Given the description of an element on the screen output the (x, y) to click on. 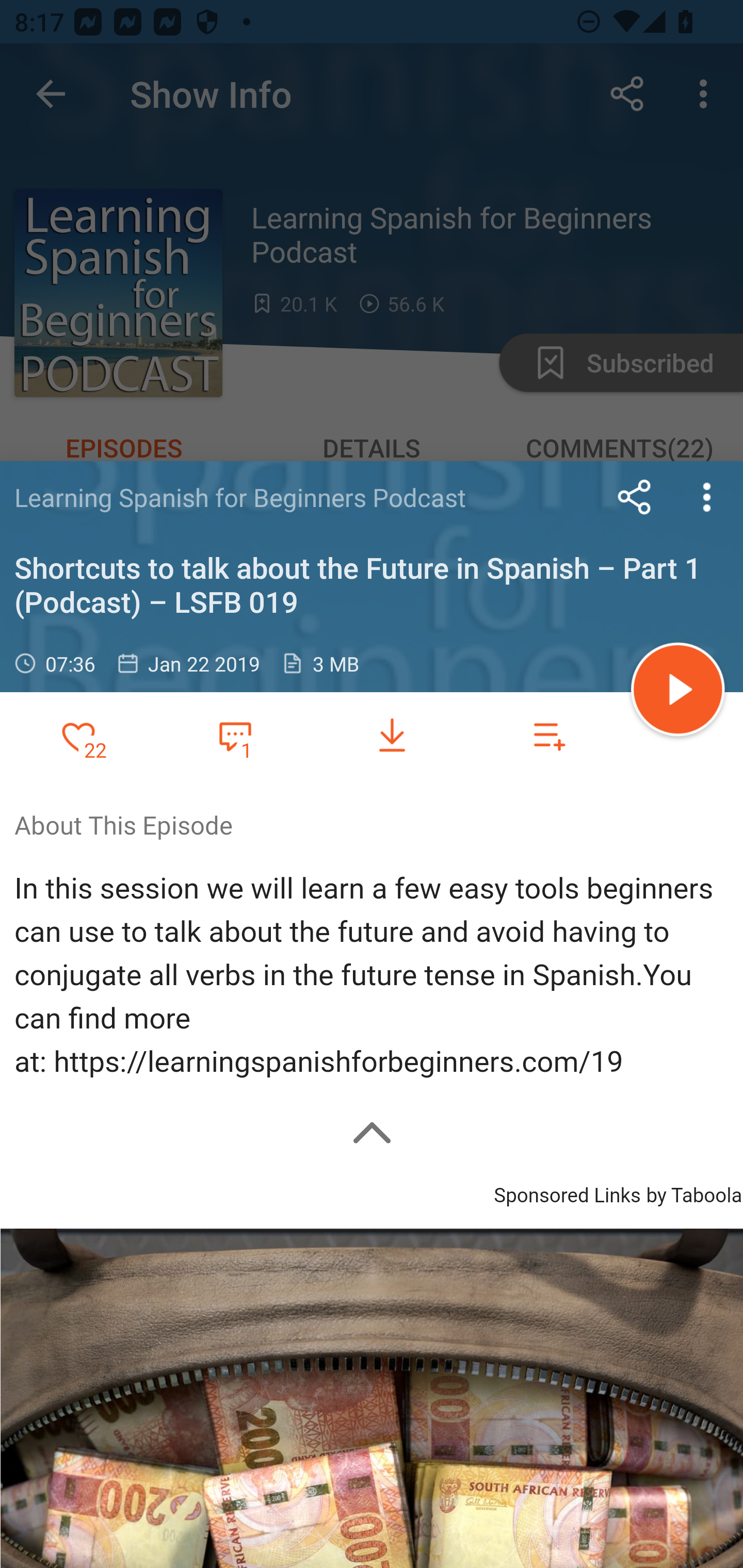
Share (634, 496)
more options (706, 496)
Play (677, 692)
1 Favorite (234, 735)
Add to Favorites (78, 735)
Download (391, 735)
Add to playlist (548, 735)
Sponsored Links (566, 1193)
by Taboola (693, 1193)
Image for Taboola Advertising Unit (371, 1397)
